Given the description of an element on the screen output the (x, y) to click on. 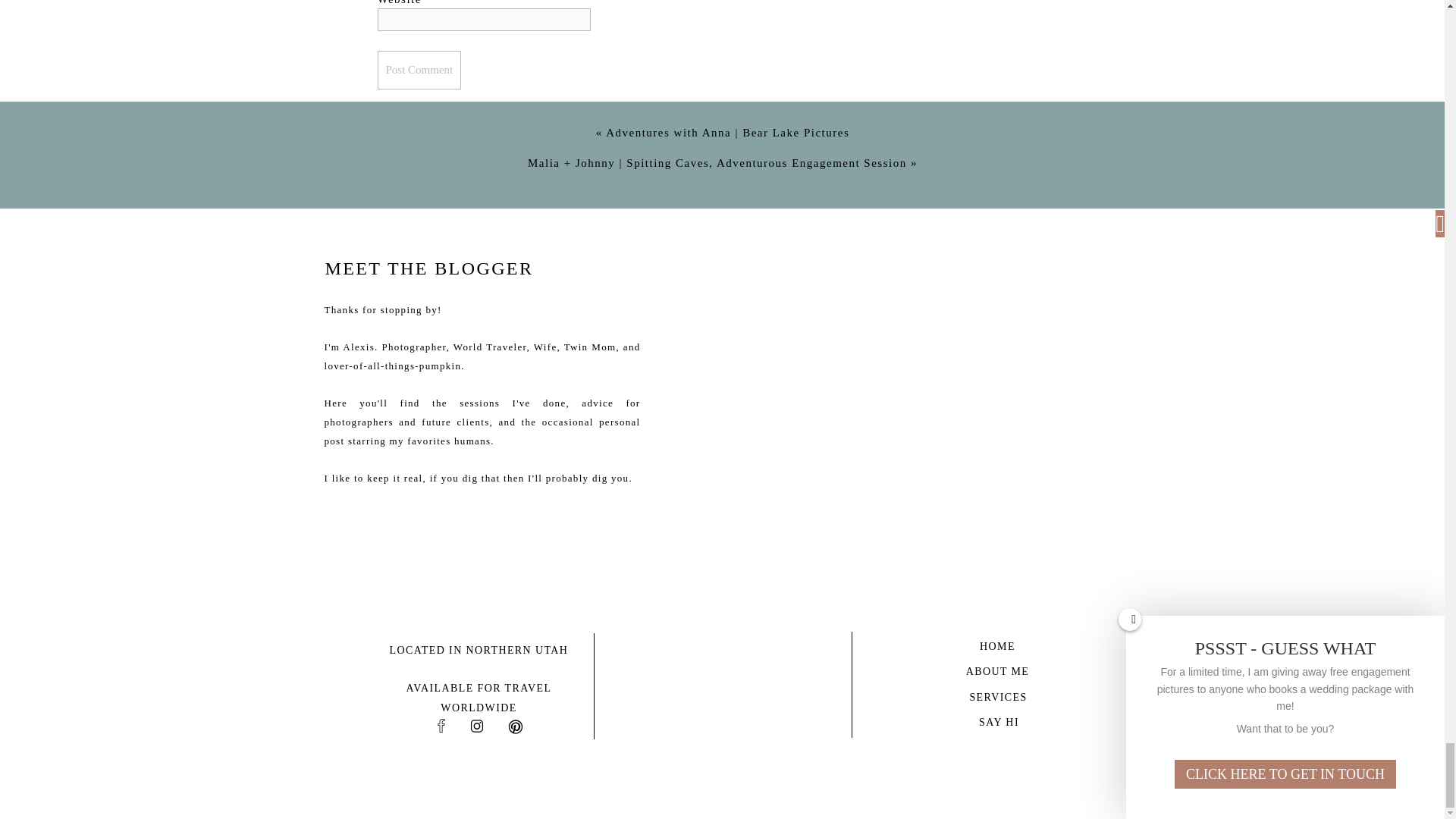
Post Comment (419, 69)
Post Comment (419, 69)
